Given the description of an element on the screen output the (x, y) to click on. 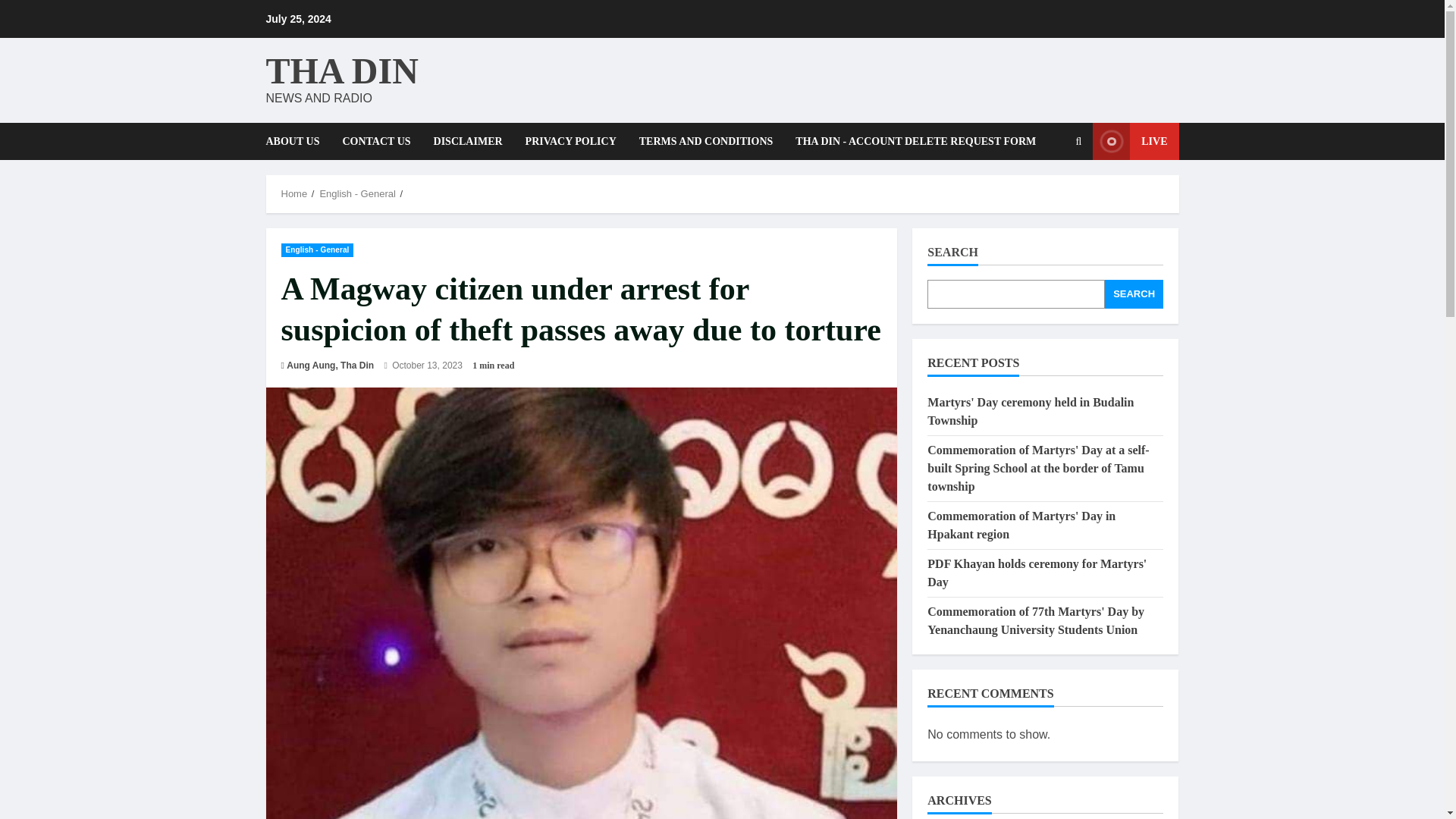
Aung Aung, Tha Din (330, 365)
PRIVACY POLICY (570, 140)
THA DIN (340, 70)
English - General (356, 193)
CONTACT US (376, 140)
Home (294, 193)
Commemoration of Martyrs' Day in Hpakant region (1021, 524)
SEARCH (1134, 294)
TERMS AND CONDITIONS (705, 140)
English - General (317, 249)
ABOUT US (297, 140)
THA DIN - ACCOUNT DELETE REQUEST FORM (909, 140)
PDF Khayan holds ceremony for Martyrs' Day (1037, 572)
LIVE (1135, 140)
